Given the description of an element on the screen output the (x, y) to click on. 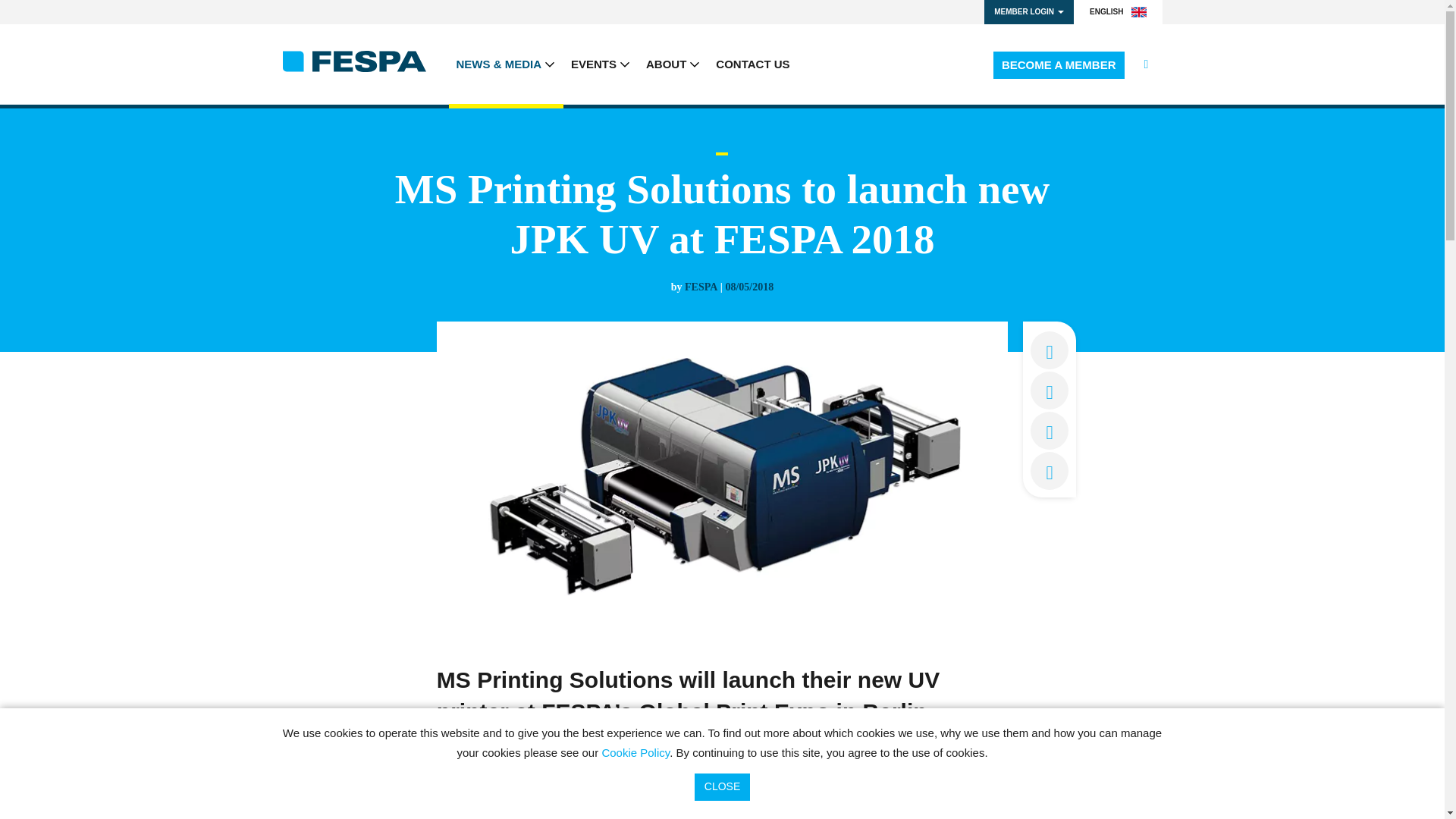
EVENTS (601, 63)
ABOUT (673, 63)
ENGLISH (1117, 12)
MEMBER LOGIN (1029, 12)
